Given the description of an element on the screen output the (x, y) to click on. 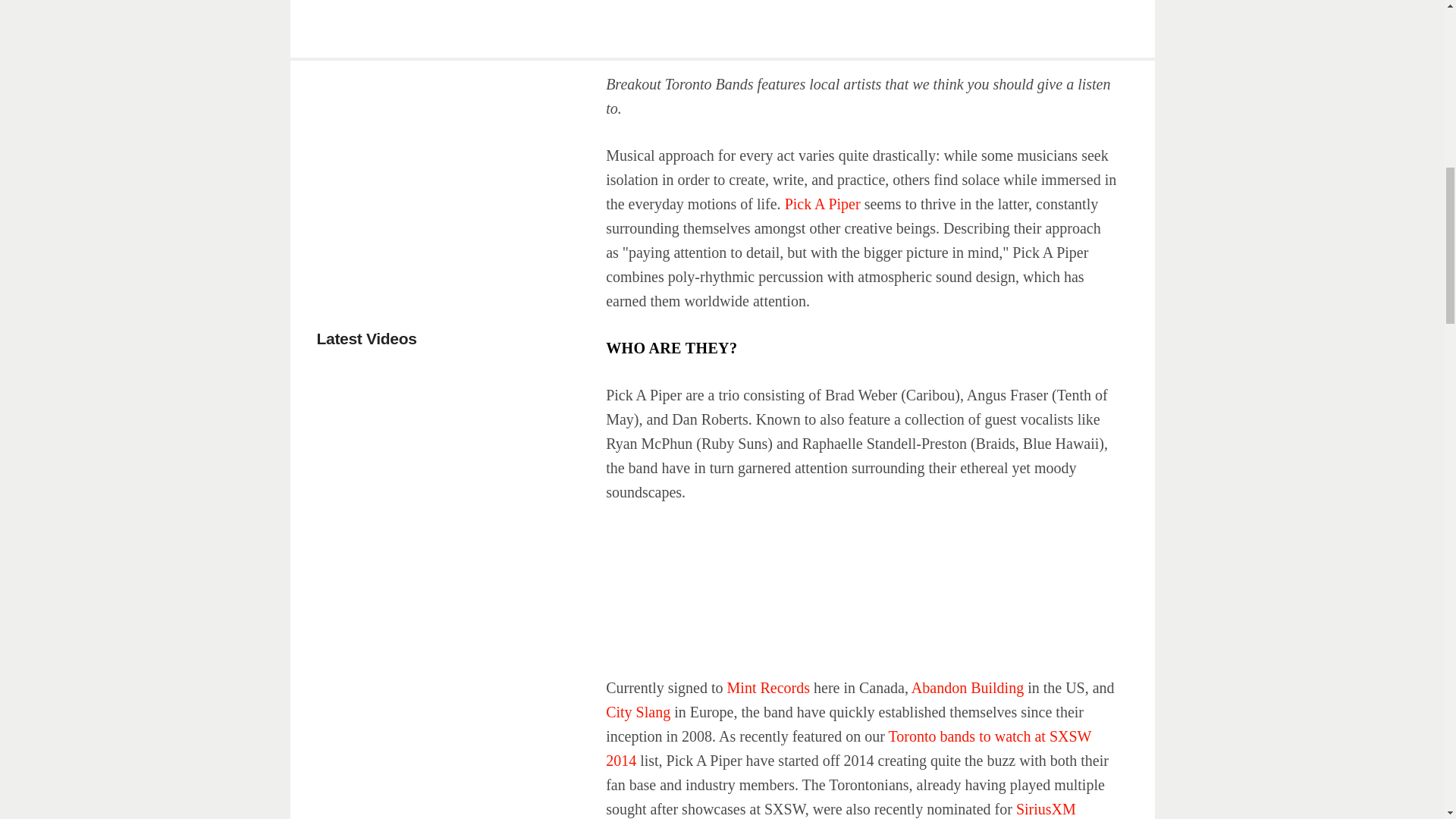
Abandon Building (967, 687)
SiriusXM (1045, 808)
Toronto bands to watch at SXSW 2014 (847, 748)
Pick A Piper (822, 203)
City Slang (637, 711)
Mint Records (767, 687)
